Given the description of an element on the screen output the (x, y) to click on. 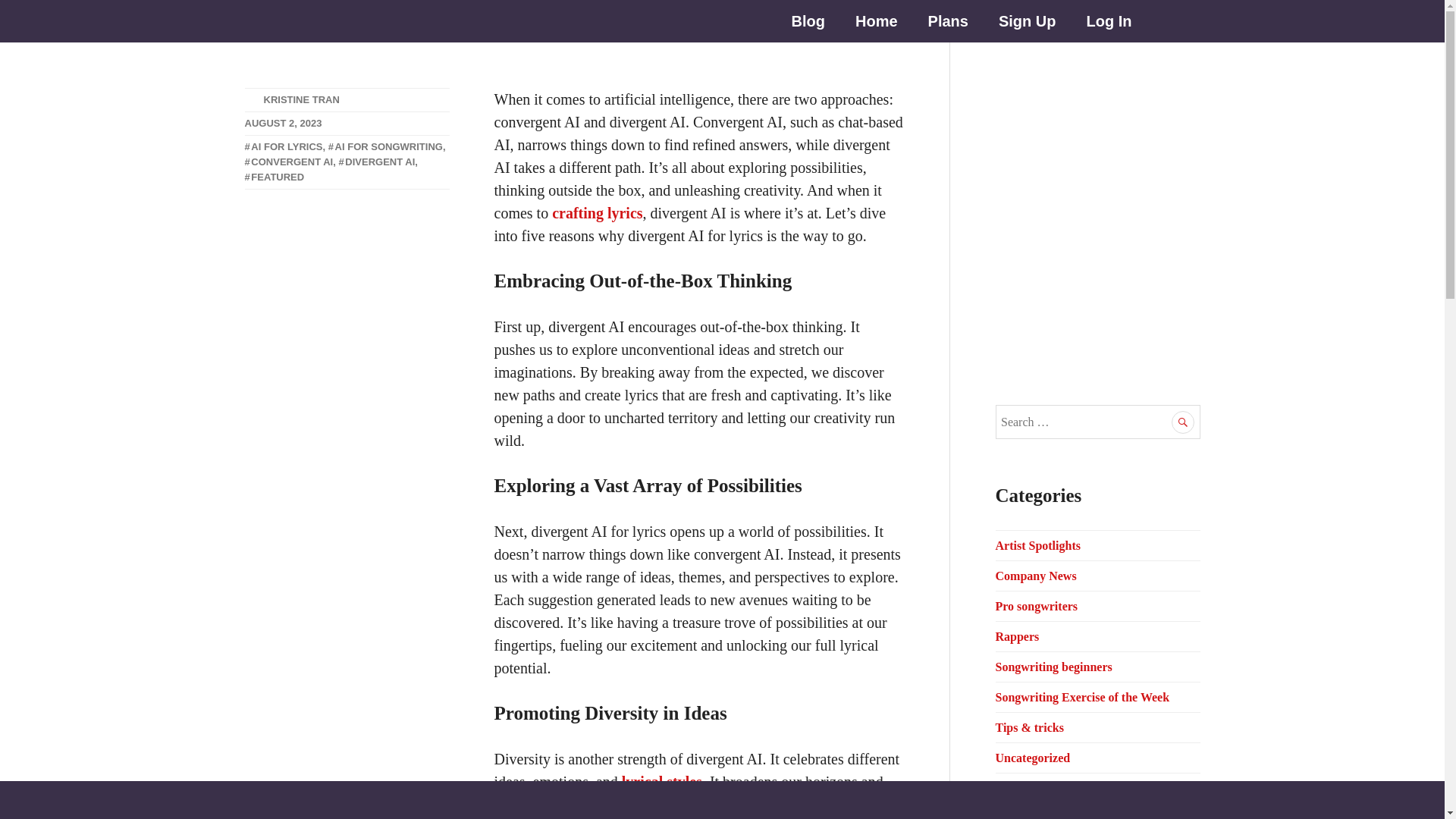
crafting lyrics (596, 212)
Search (1182, 422)
Plans (948, 21)
Pro songwriters (1035, 605)
FEATURED (274, 176)
AI FOR SONGWRITING (385, 146)
Search (1182, 422)
Sign Up (1027, 21)
AI FOR LYRICS (282, 146)
Rappers (1016, 635)
KRISTINE TRAN (301, 99)
lyrical styles (661, 781)
Home (876, 21)
DIVERGENT AI (375, 161)
Blog (808, 21)
